Given the description of an element on the screen output the (x, y) to click on. 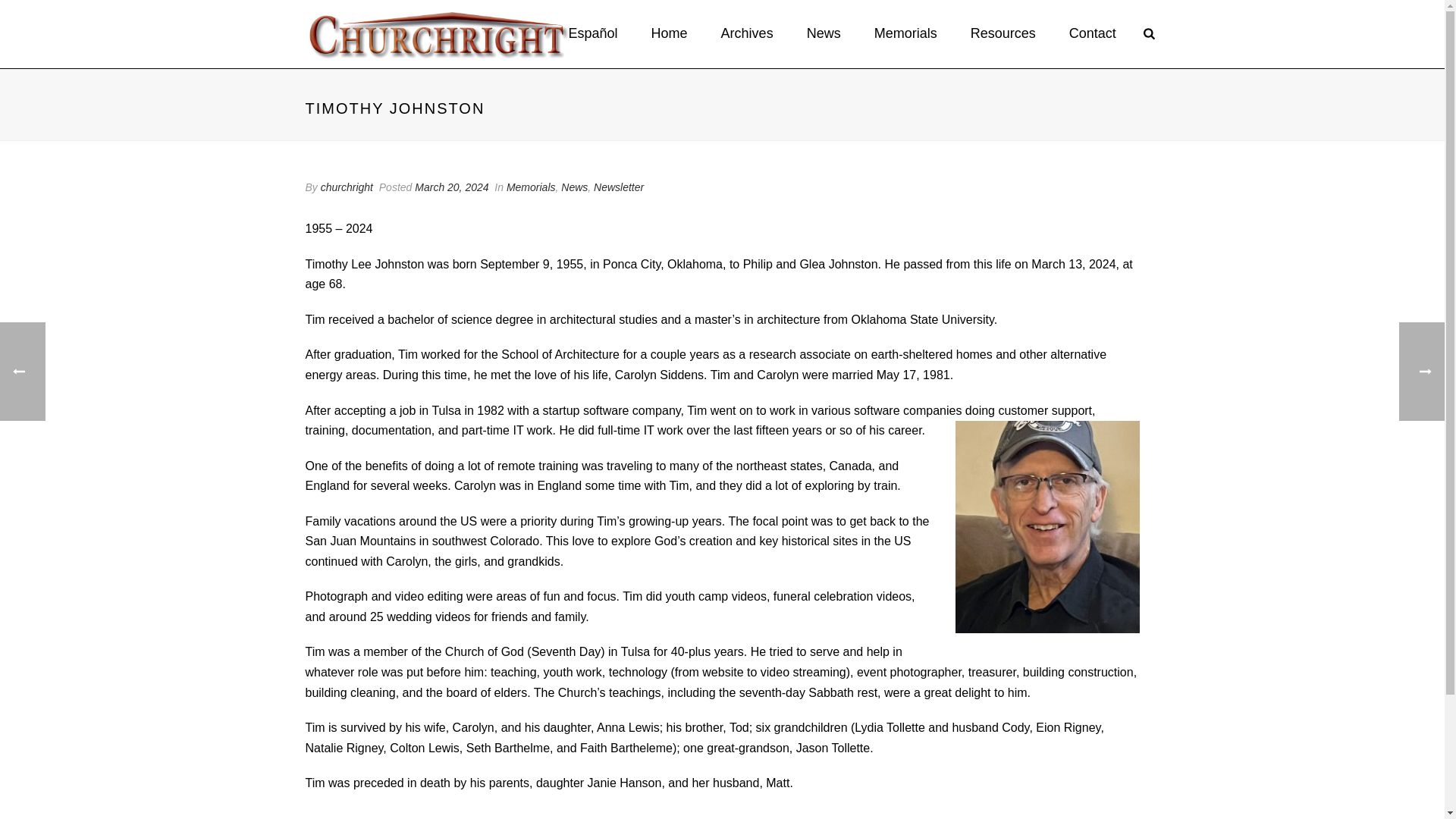
Home (669, 32)
Home (669, 32)
Resources (1003, 32)
churchright (346, 186)
Posts by churchright (346, 186)
Contact (1092, 32)
March 20, 2024 (450, 186)
Memorials (905, 32)
News (824, 32)
Memorials (905, 32)
News (824, 32)
Archives (747, 32)
Resources (1003, 32)
Archives (747, 32)
Contact (1092, 32)
